Given the description of an element on the screen output the (x, y) to click on. 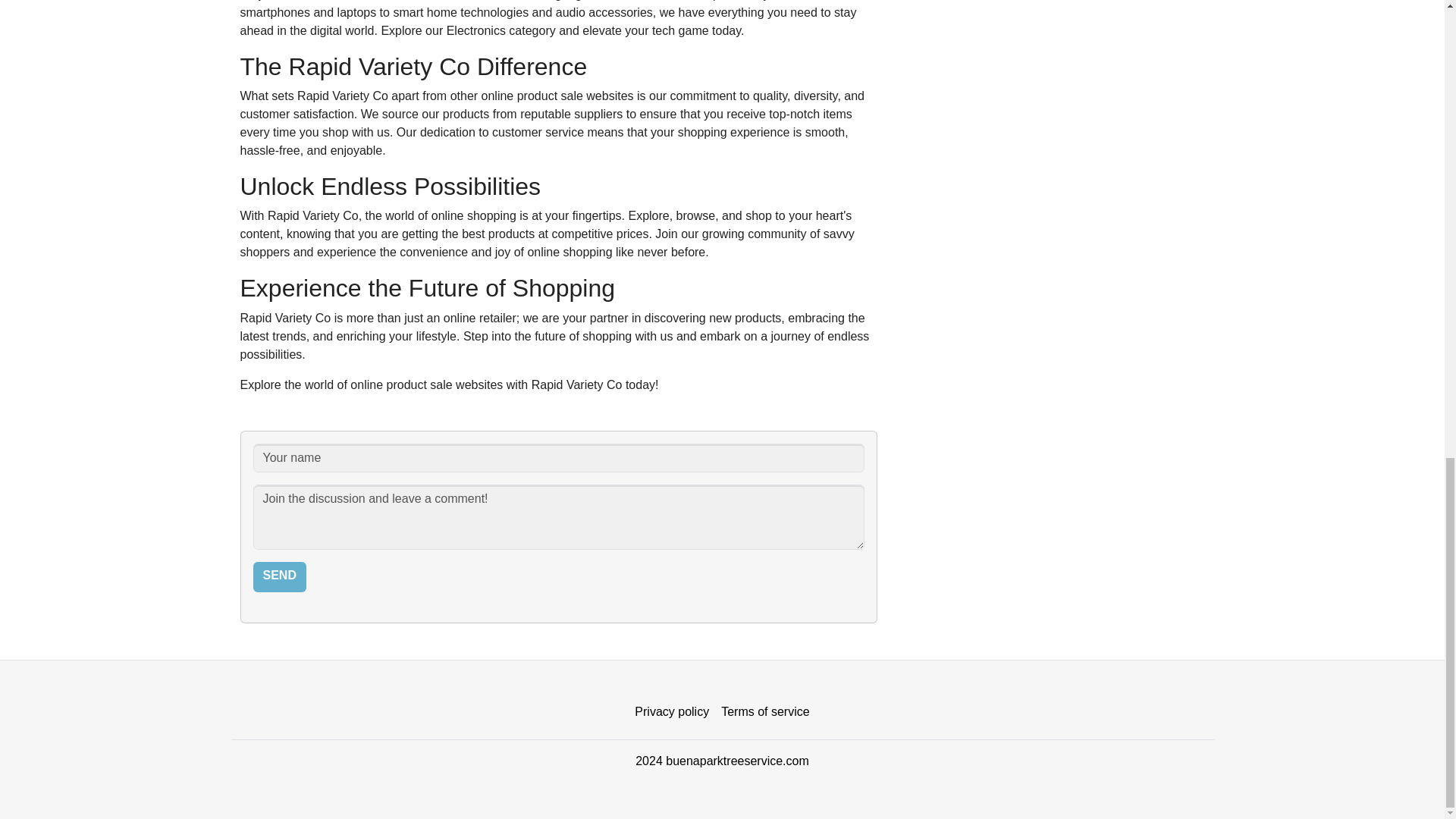
Send (279, 576)
Send (279, 576)
Terms of service (764, 711)
Privacy policy (671, 711)
